Given the description of an element on the screen output the (x, y) to click on. 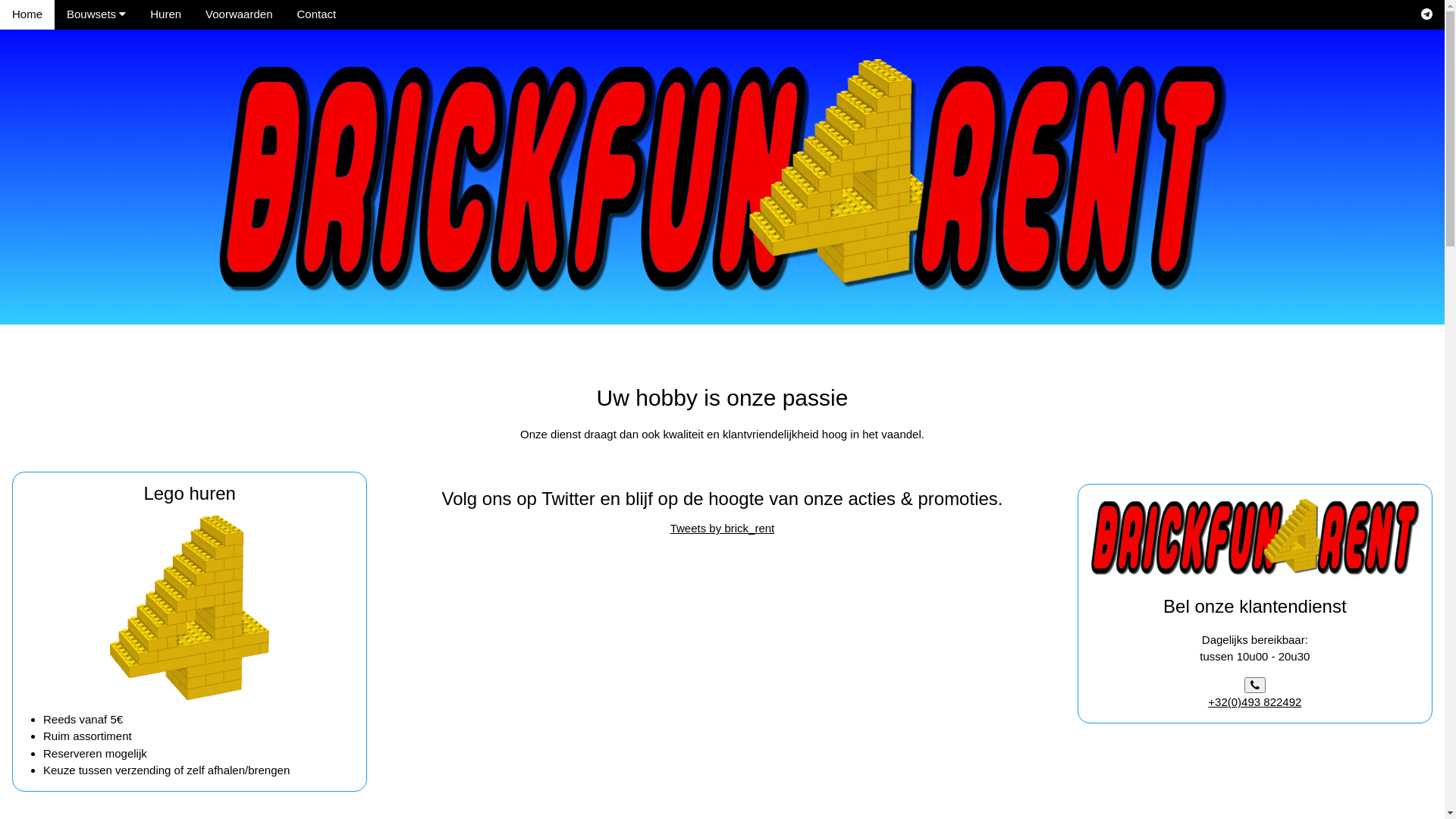
Voorwaarden Element type: text (238, 14)
Search Element type: hover (1426, 14)
+32(0)493 822492 Element type: text (1254, 693)
Home Element type: text (27, 14)
Huren Element type: text (165, 14)
Contact Element type: text (316, 14)
Tweets by brick_rent Element type: text (722, 527)
Bouwsets Element type: text (96, 14)
